Given the description of an element on the screen output the (x, y) to click on. 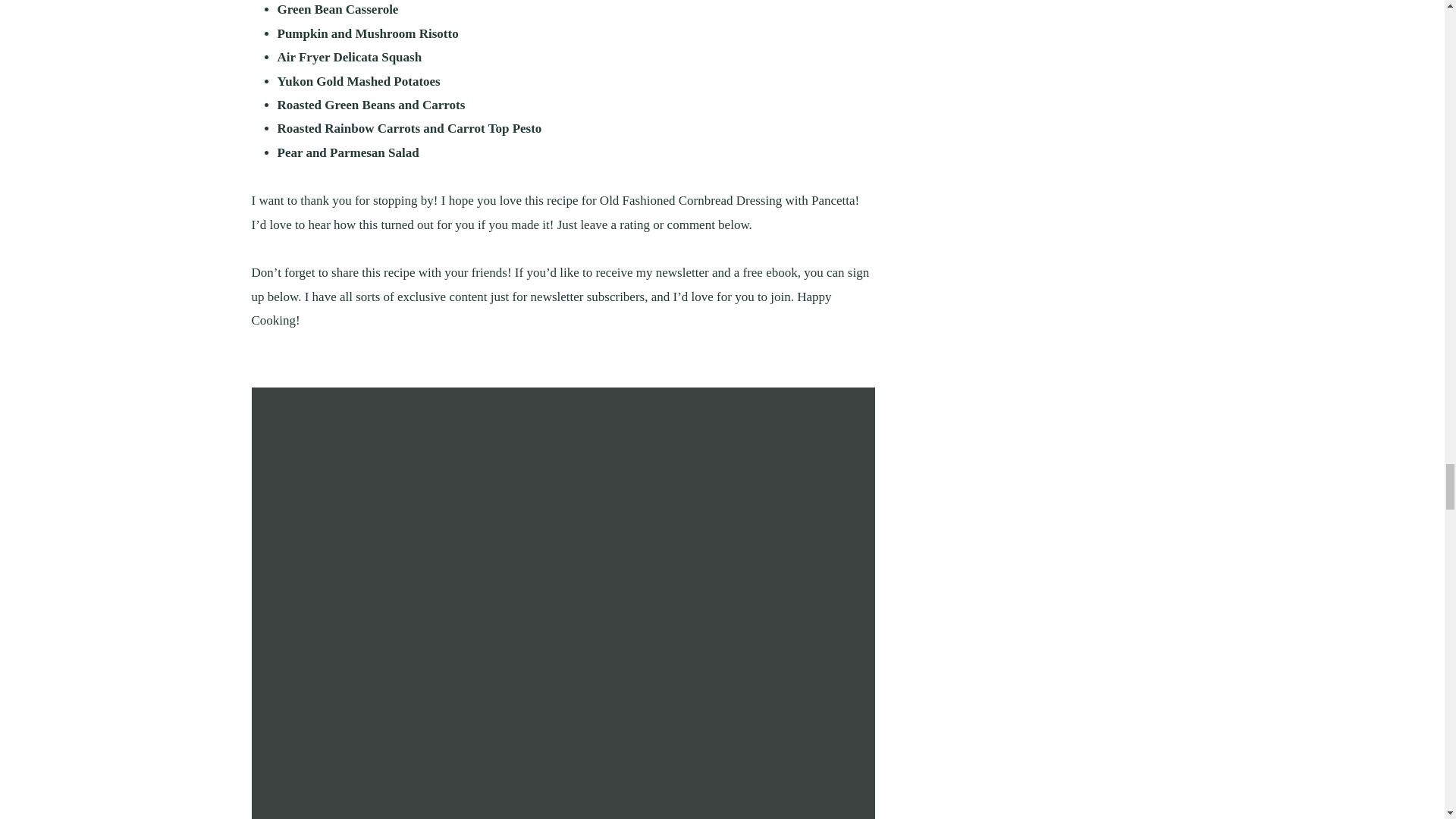
Roasted Rainbow Carrots and Carrot Top Pesto (409, 128)
Yukon Gold Mashed Potatoes (359, 81)
Pear and Parmesan Salad (348, 152)
Air Fryer Delicata Squash (350, 56)
Green Bean Casserole (338, 9)
Roasted Green Beans and Carrots (371, 104)
Pumpkin and Mushroom Risotto (368, 33)
